Given the description of an element on the screen output the (x, y) to click on. 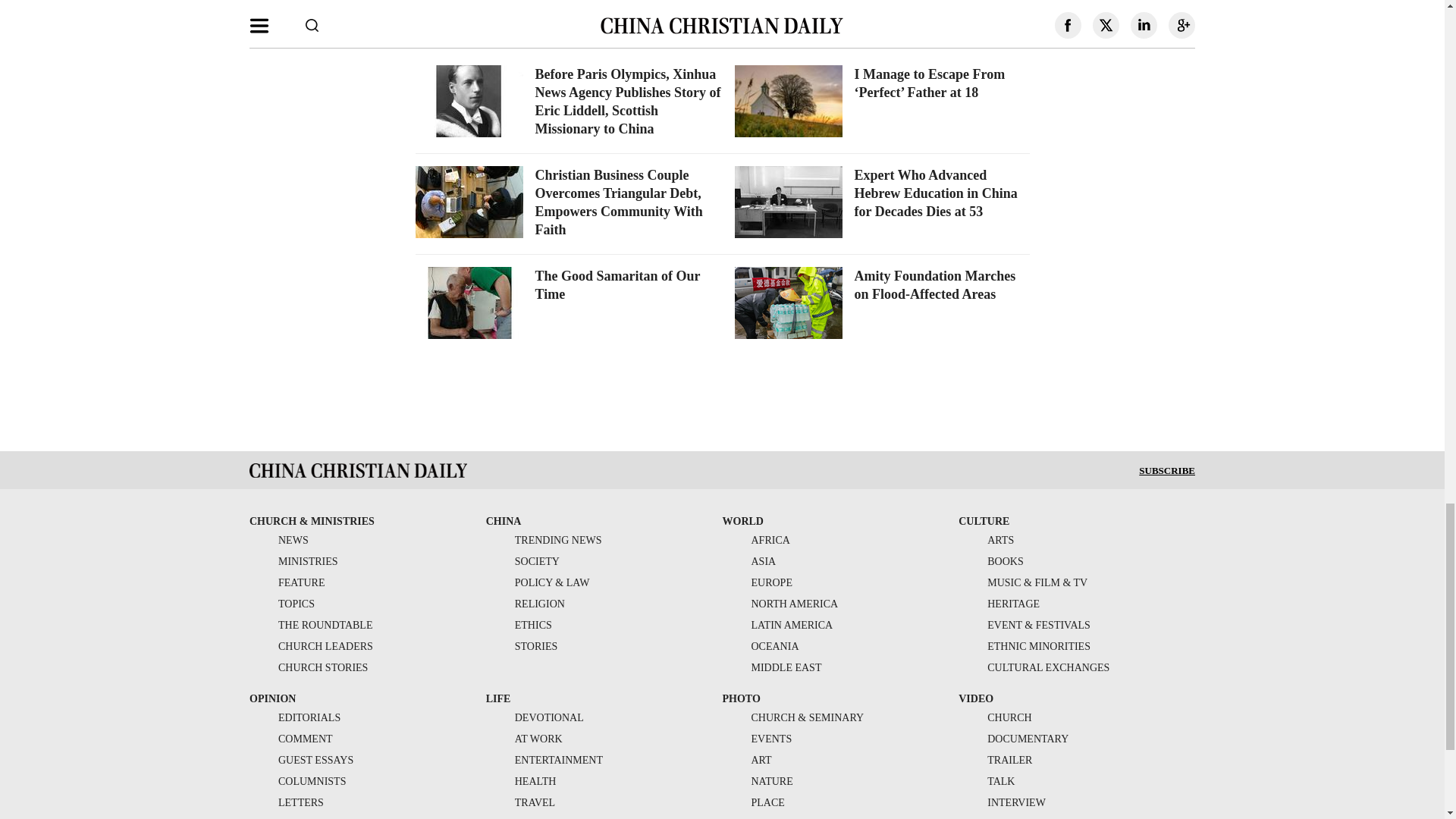
TOPICS (281, 603)
THE ROUNDTABLE (310, 624)
MINISTRIES (292, 561)
FEATURE (286, 582)
CHURCH LEADERS (310, 645)
NEWS (278, 540)
Amity Foundation Marches on Flood-Affected Areas (933, 285)
CHURCH STORIES (308, 667)
The Good Samaritan of Our Time (617, 285)
